Given the description of an element on the screen output the (x, y) to click on. 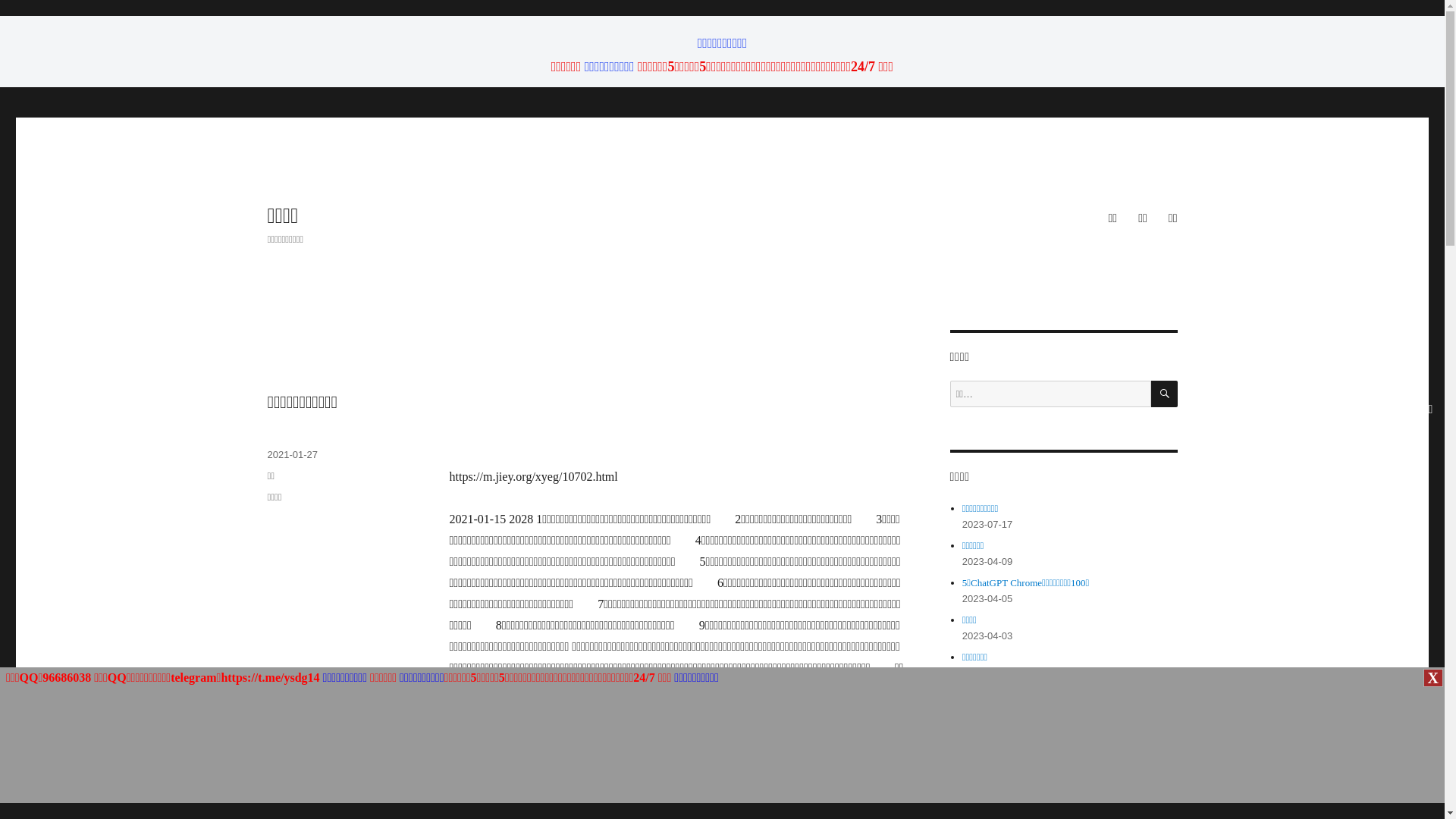
2021-01-27 Element type: text (291, 454)
